Given the description of an element on the screen output the (x, y) to click on. 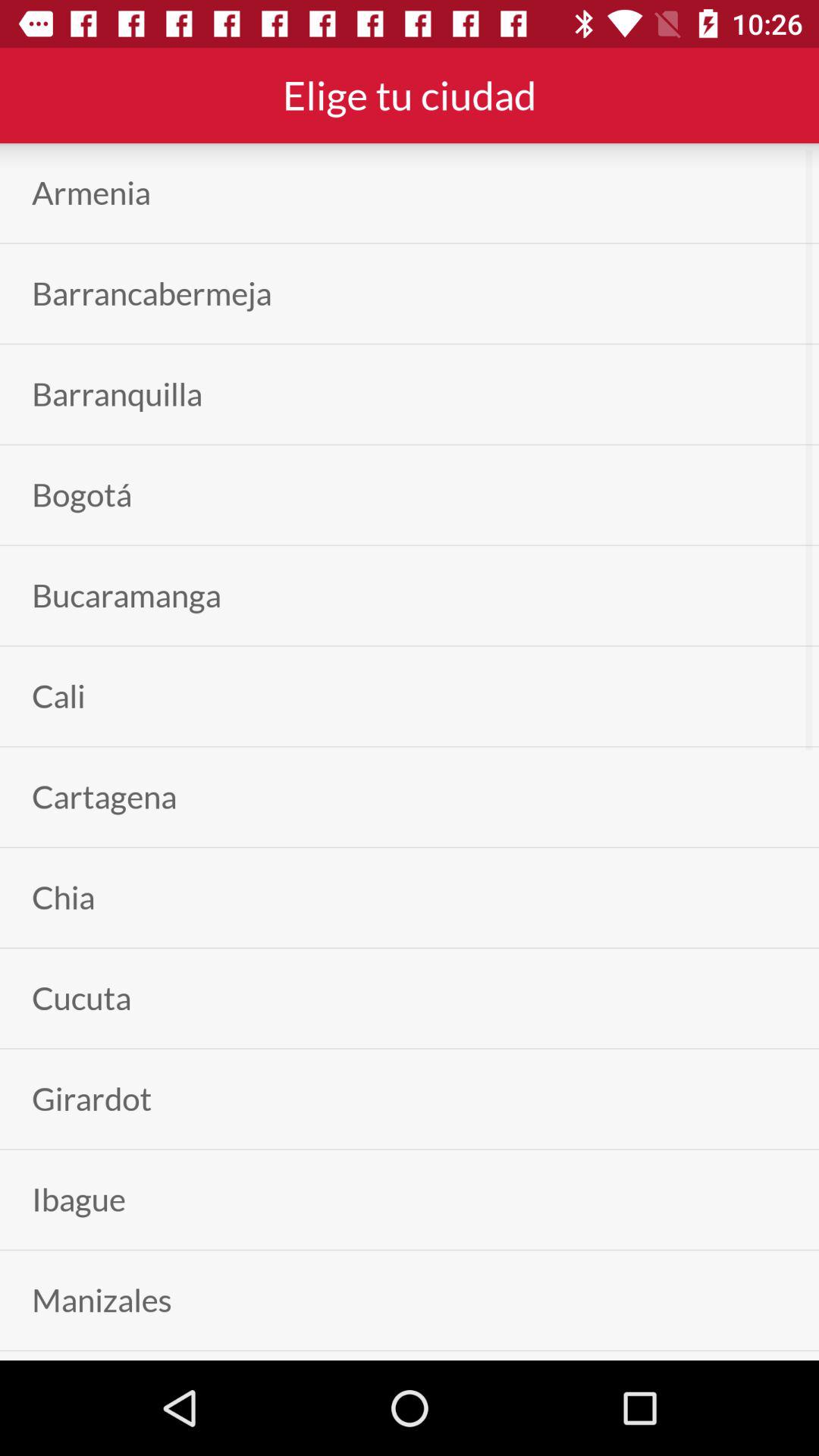
turn off the app below the cali item (103, 797)
